Given the description of an element on the screen output the (x, y) to click on. 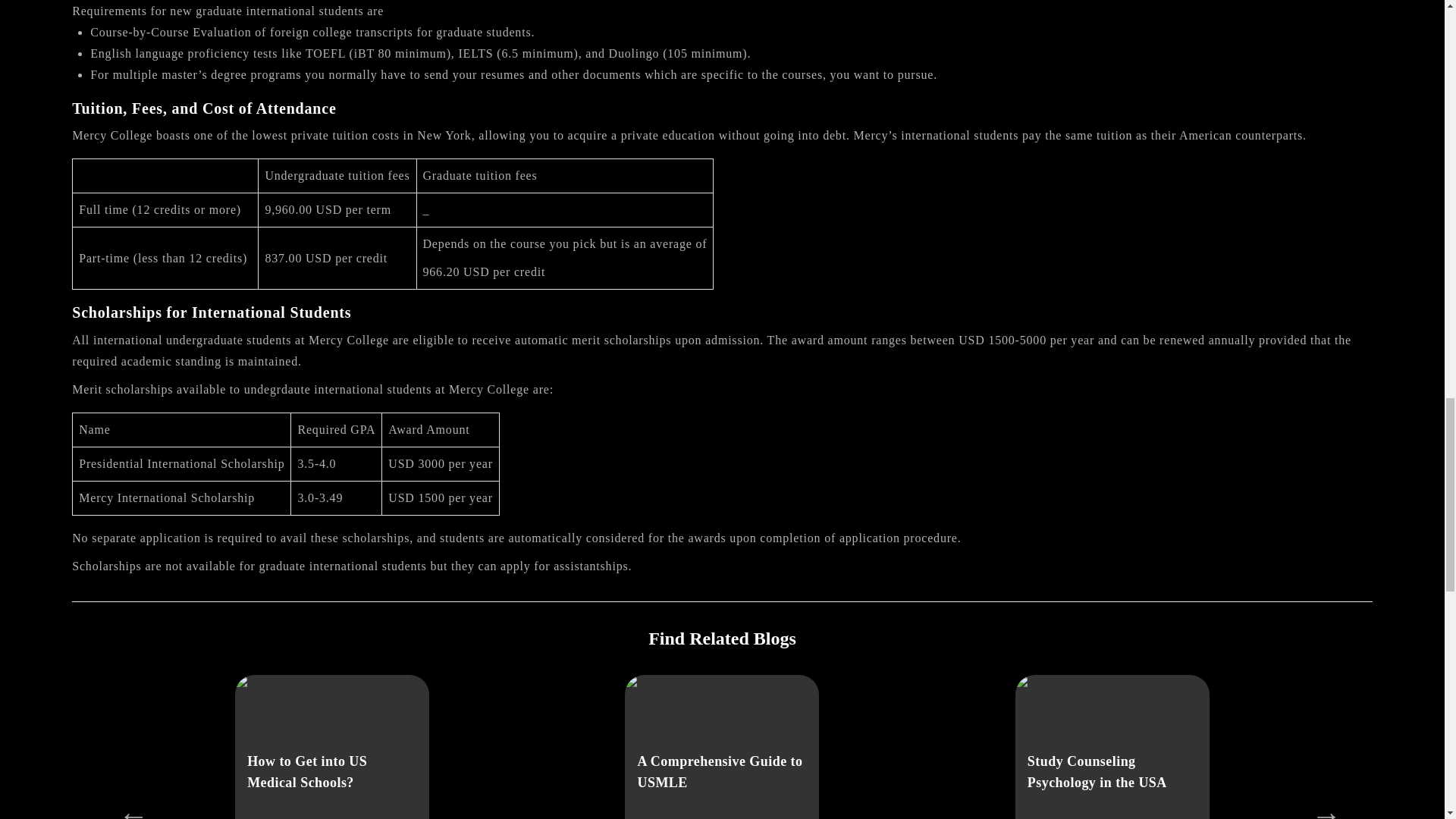
Next (1318, 807)
Previous (125, 807)
